Given the description of an element on the screen output the (x, y) to click on. 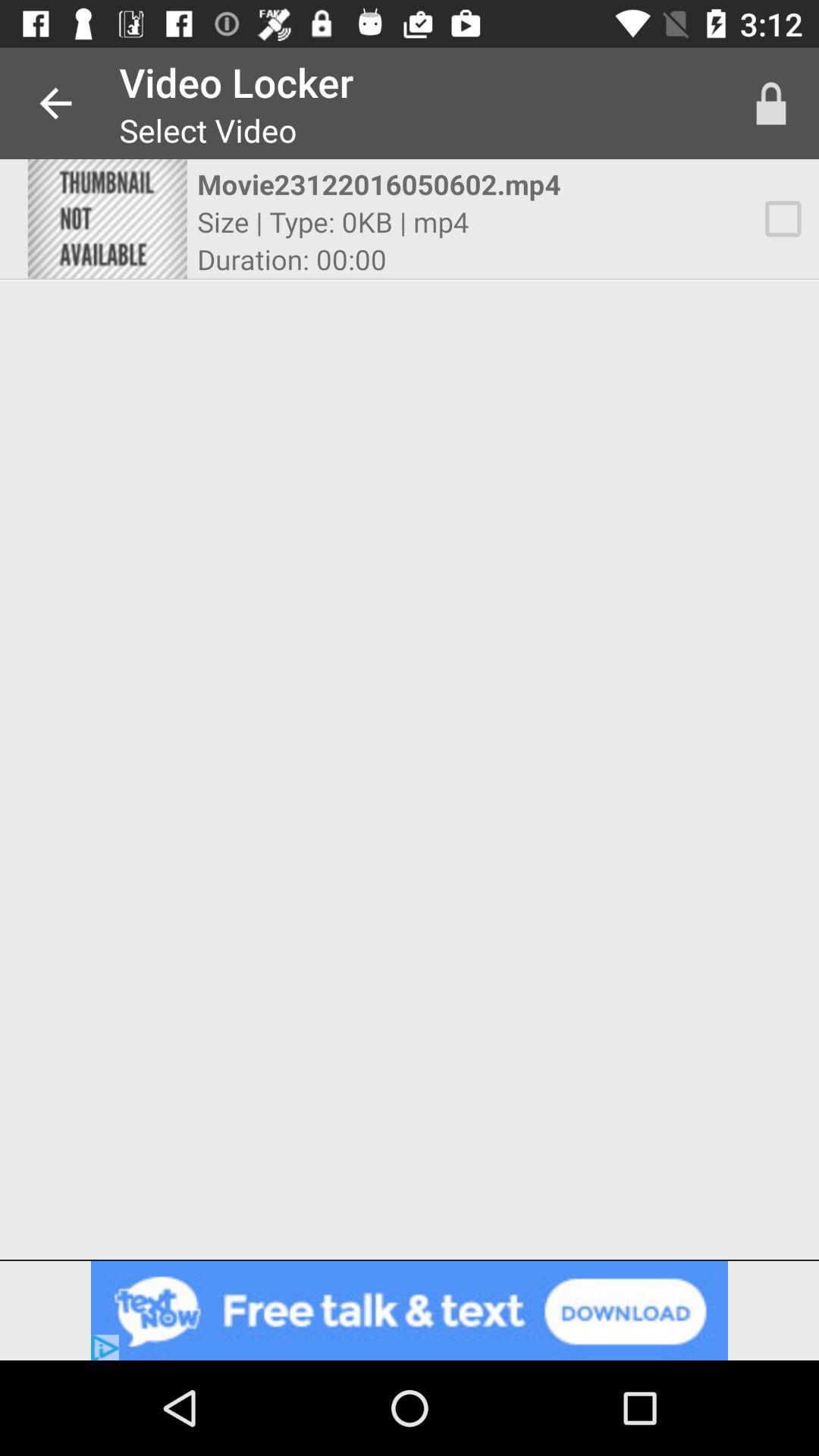
press the app below select video item (396, 184)
